Given the description of an element on the screen output the (x, y) to click on. 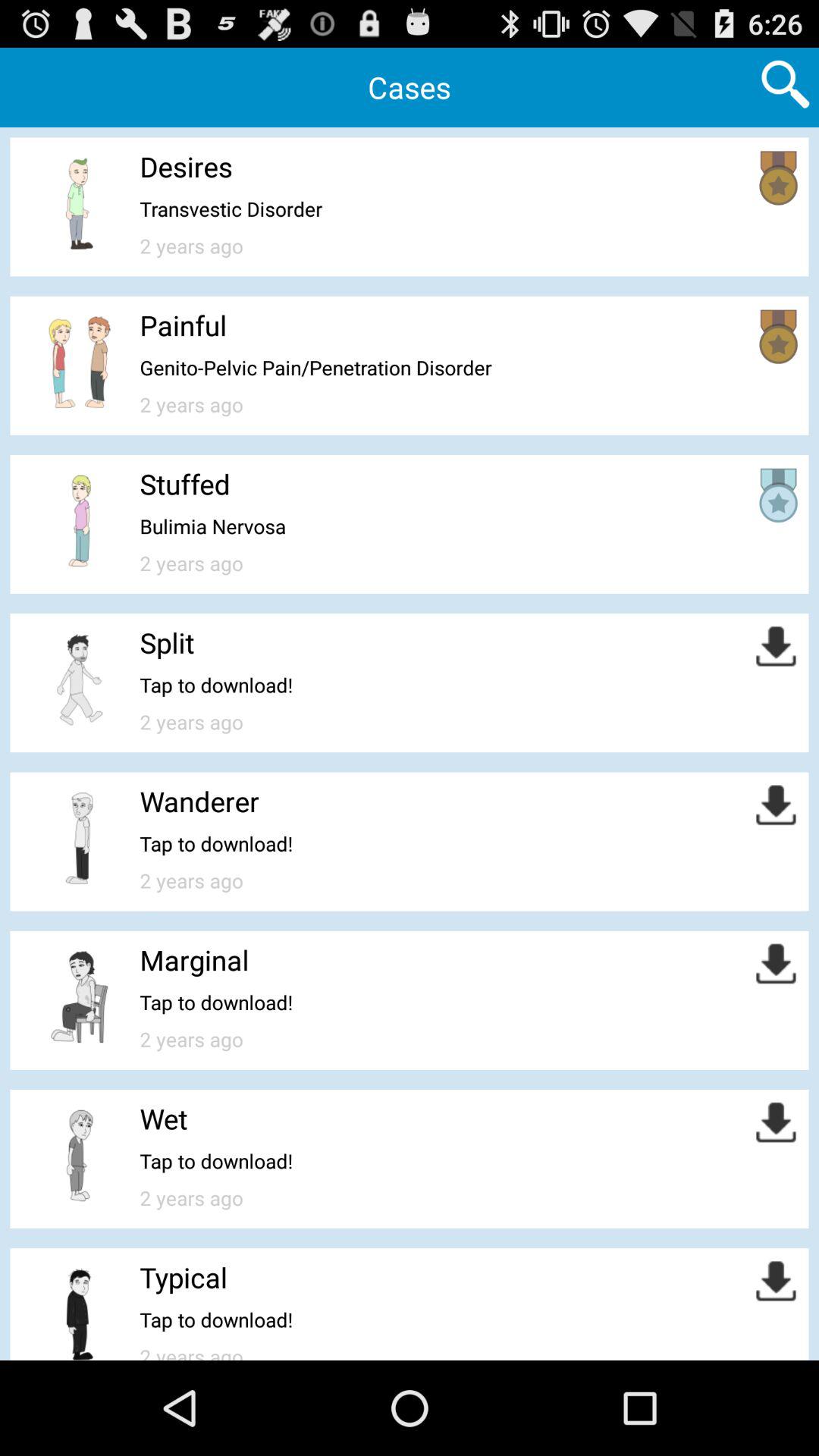
press bulimia nervosa item (212, 526)
